Given the description of an element on the screen output the (x, y) to click on. 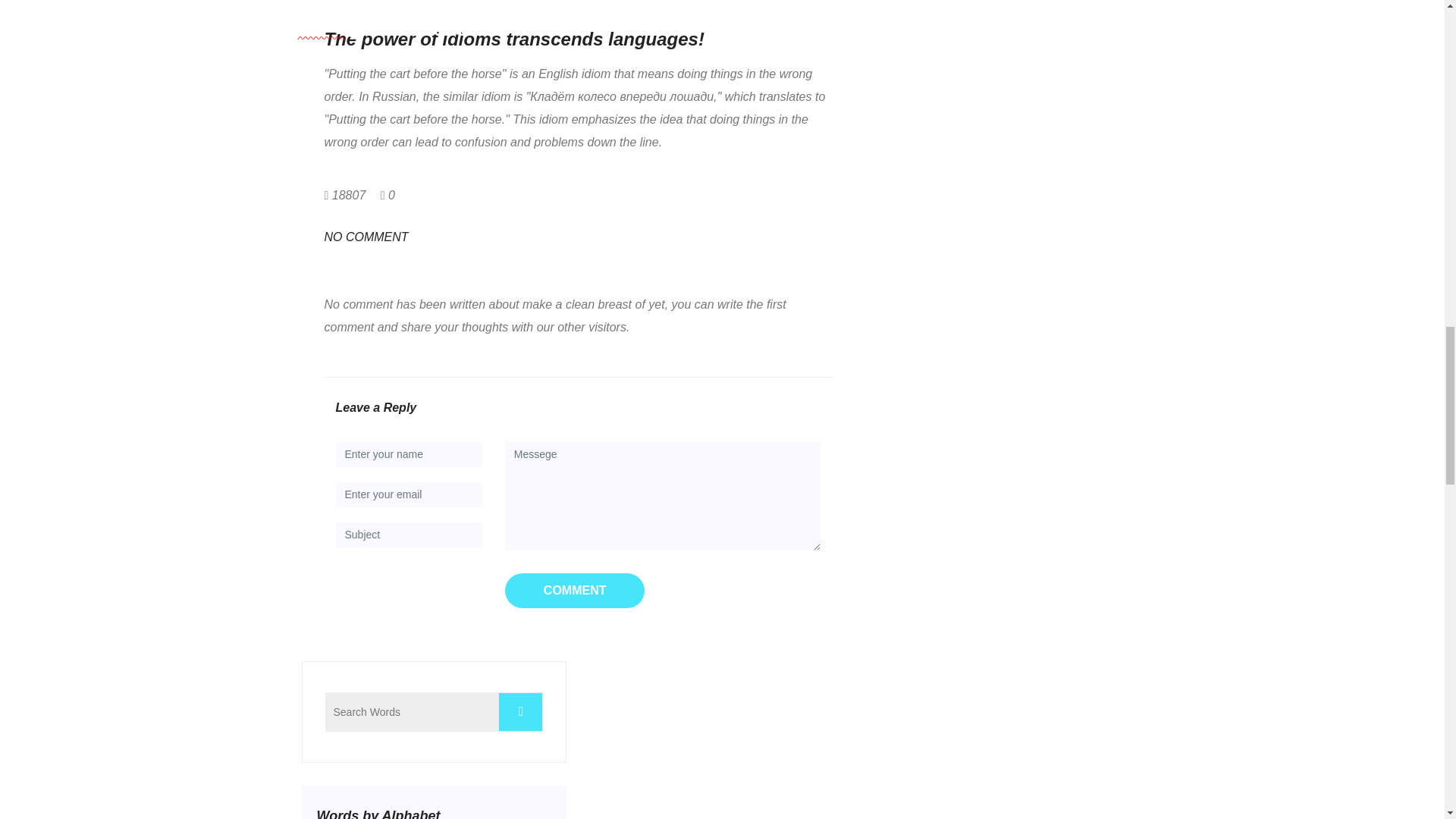
0 (387, 195)
COMMENT (575, 590)
Search (520, 711)
18807 (345, 195)
